Given the description of an element on the screen output the (x, y) to click on. 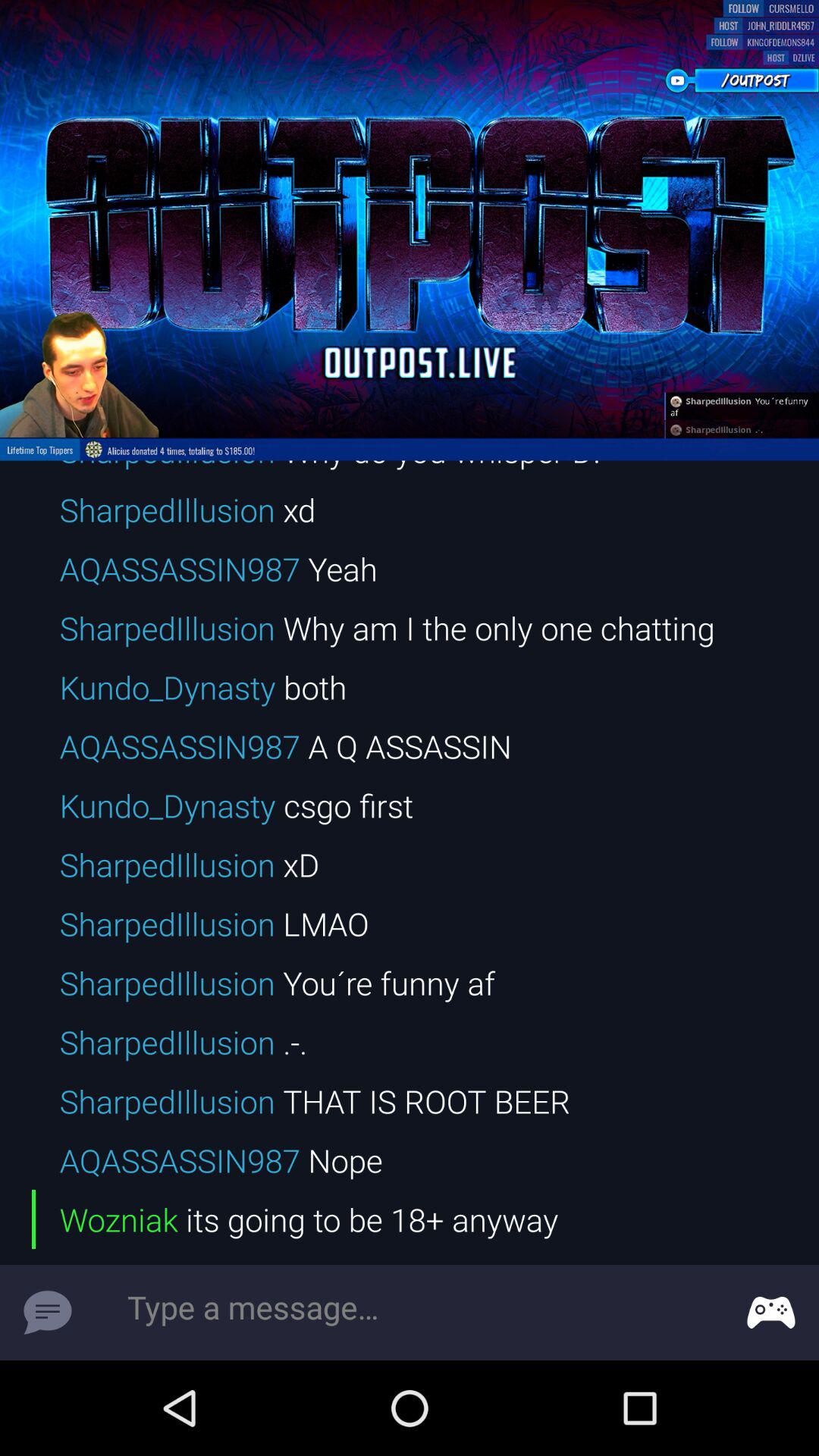
game (771, 1312)
